Given the description of an element on the screen output the (x, y) to click on. 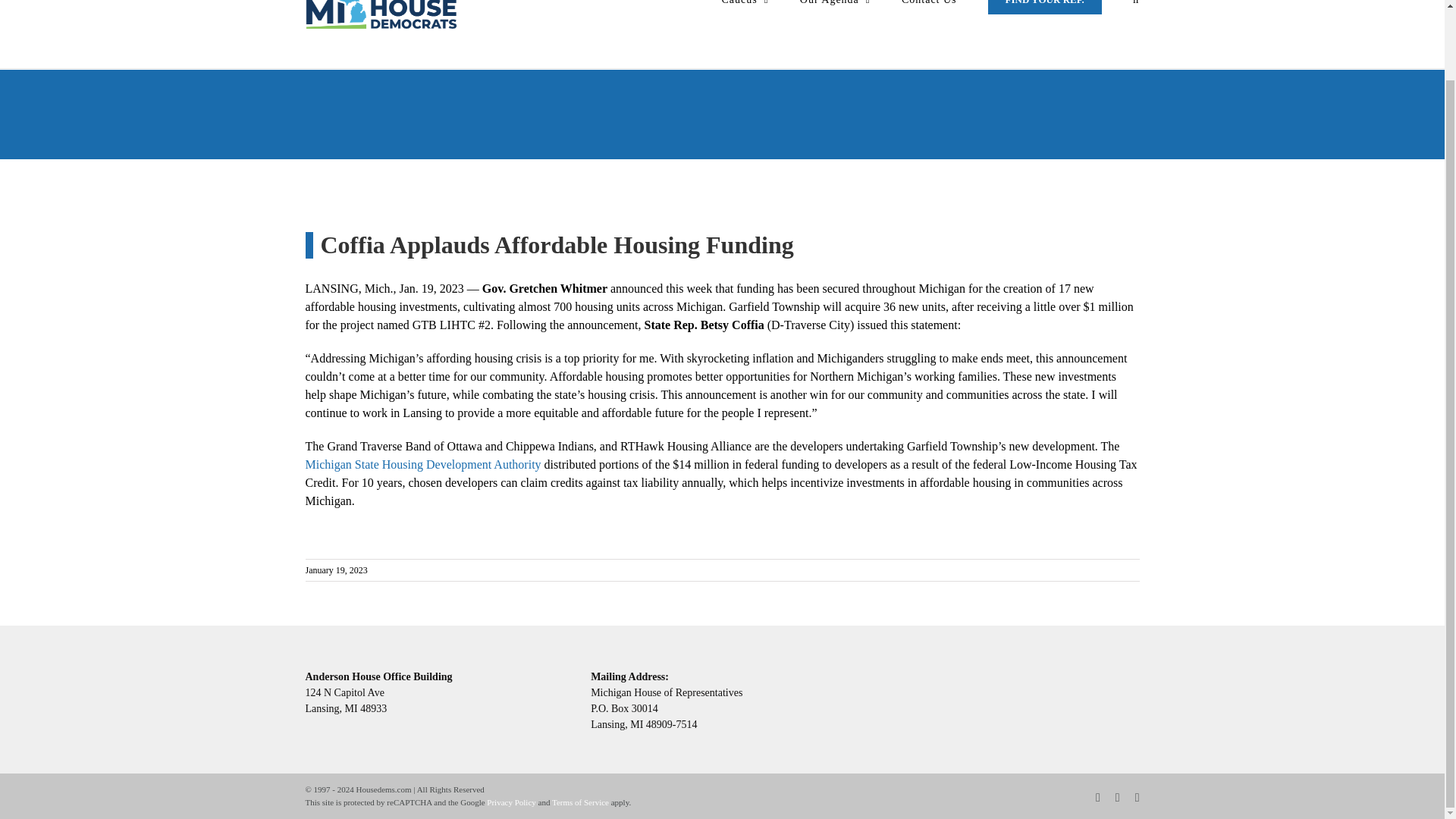
Our Agenda (834, 17)
FIND YOUR REP. (1045, 17)
Contact Us (928, 17)
Caucus (744, 17)
